Given the description of an element on the screen output the (x, y) to click on. 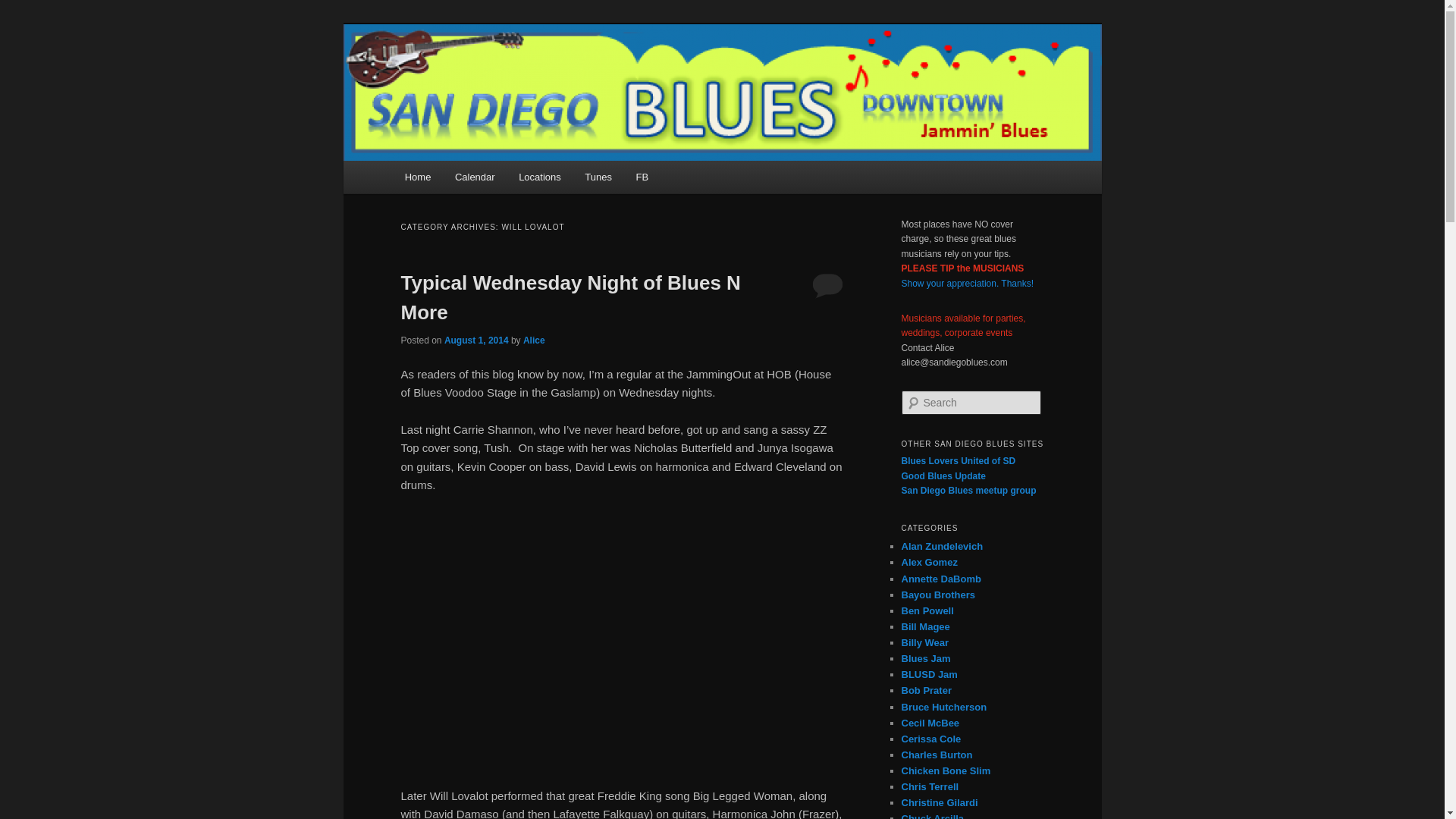
YouTube player (621, 637)
Alice (533, 339)
Home (417, 176)
August 1, 2014 (476, 339)
San Diego BLUES Downtown (558, 78)
5:03 am (476, 339)
Search (24, 8)
Tunes (598, 176)
Locations (539, 176)
Typical Wednesday Night of Blues N More (569, 297)
View all posts by Alice (533, 339)
Calendar (474, 176)
FB (642, 176)
